Given the description of an element on the screen output the (x, y) to click on. 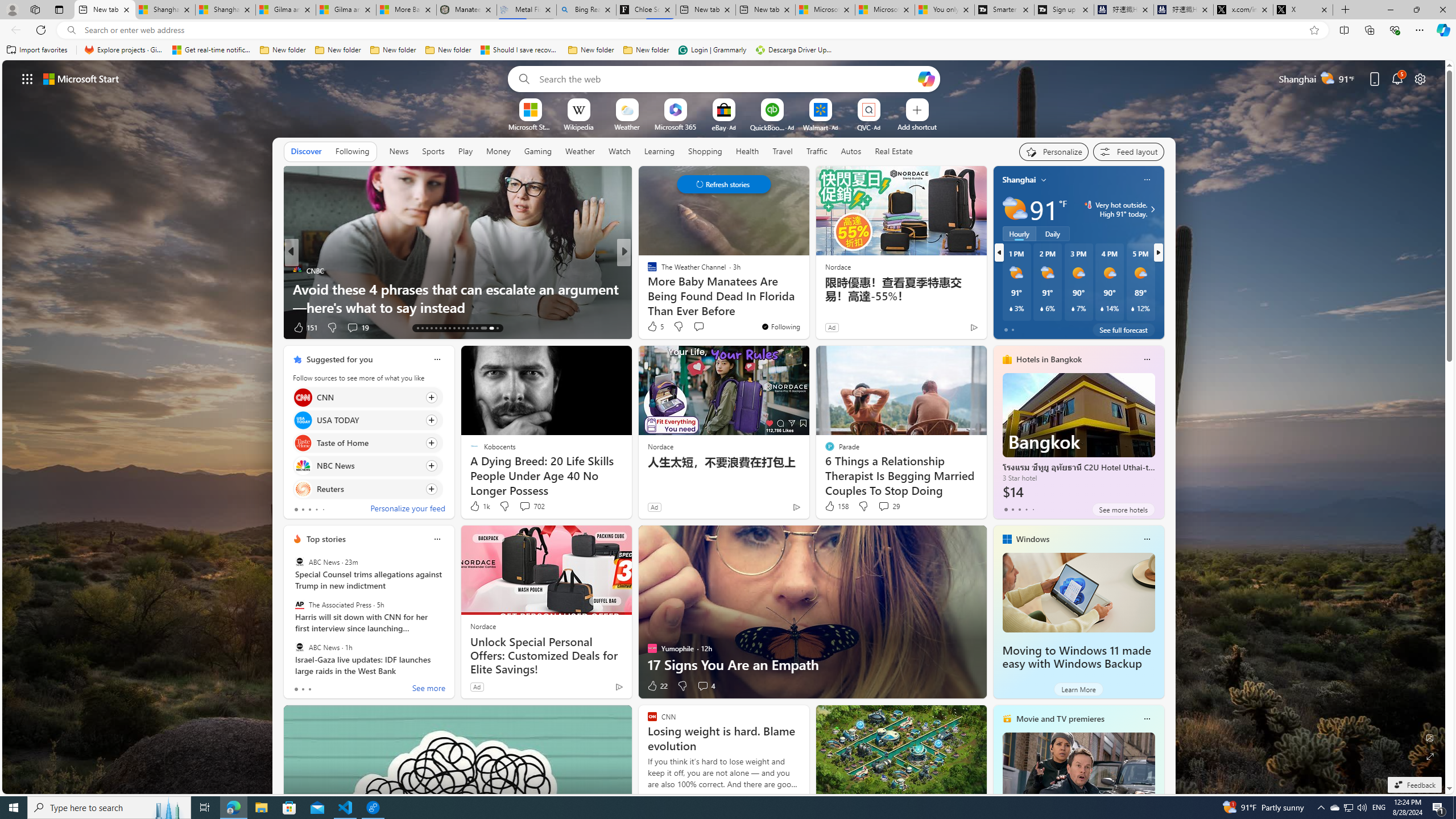
Click to follow source CNN (367, 397)
Shopping (705, 151)
Descarga Driver Updater (794, 49)
Moving to Windows 11 made easy with Windows Backup (1077, 592)
More options (1146, 718)
Real Estate (893, 151)
next (1158, 252)
Autos (850, 151)
CNN (302, 397)
View comments 1 Comment (702, 327)
View comments 1 Comment (698, 327)
